Given the description of an element on the screen output the (x, y) to click on. 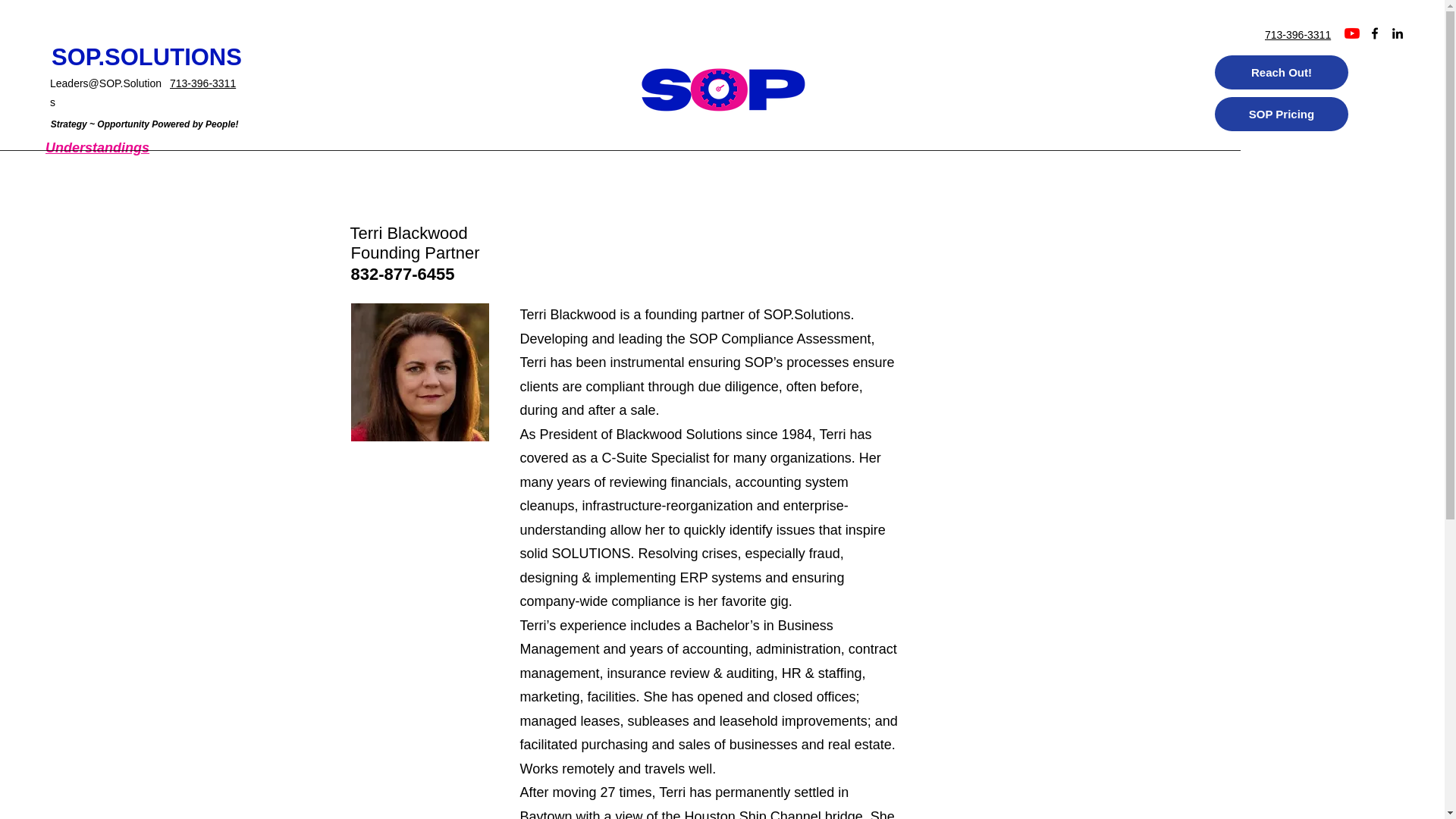
SOP.SOLUTIONS (145, 57)
713-396-3311 (1297, 34)
713-396-3311 (202, 82)
SOP Pricing (1281, 114)
Reach Out! (1281, 72)
Understandings (97, 147)
